Given the description of an element on the screen output the (x, y) to click on. 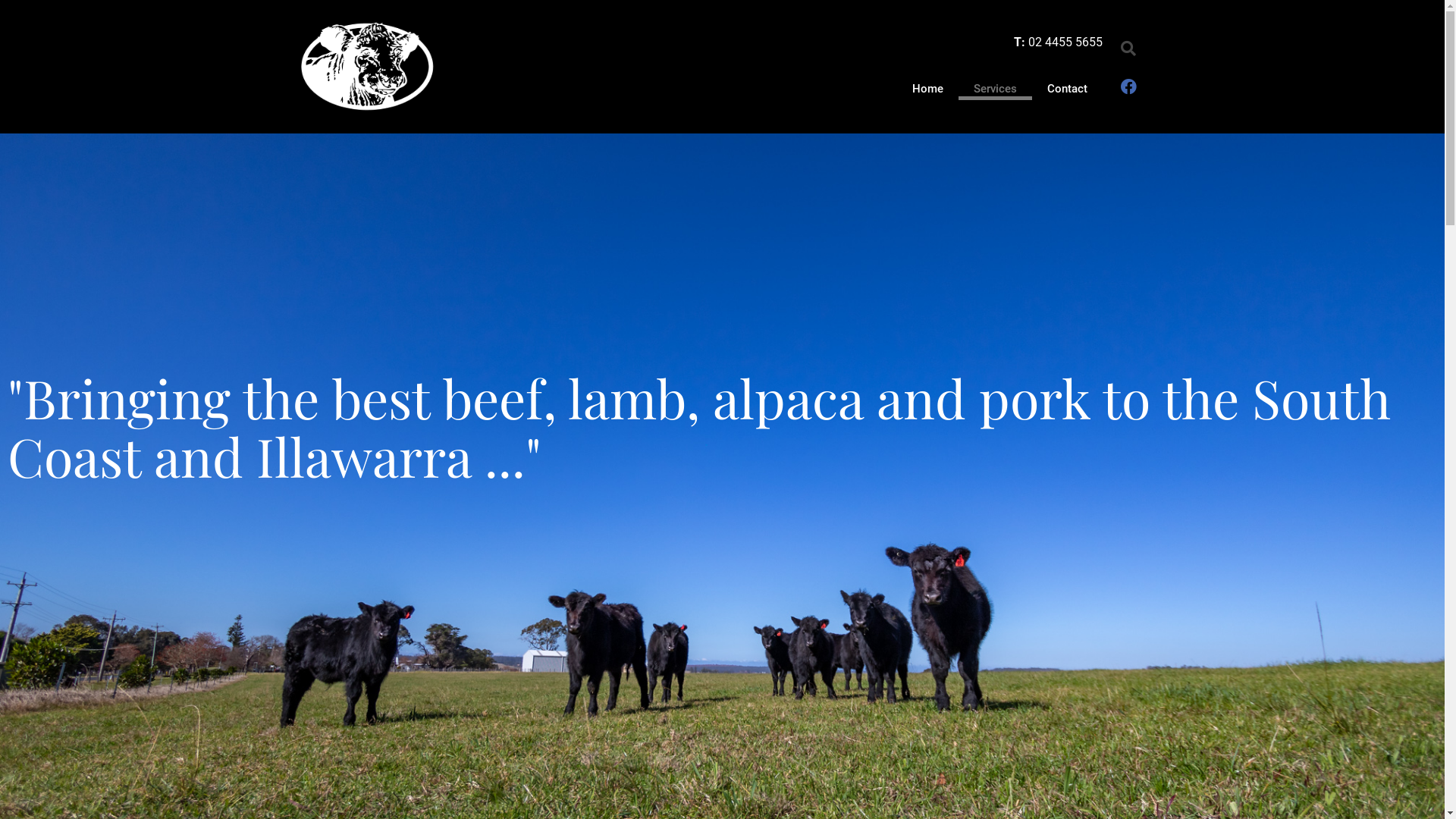
Contact Element type: text (1067, 88)
Services Element type: text (995, 88)
Home Element type: text (927, 88)
